Given the description of an element on the screen output the (x, y) to click on. 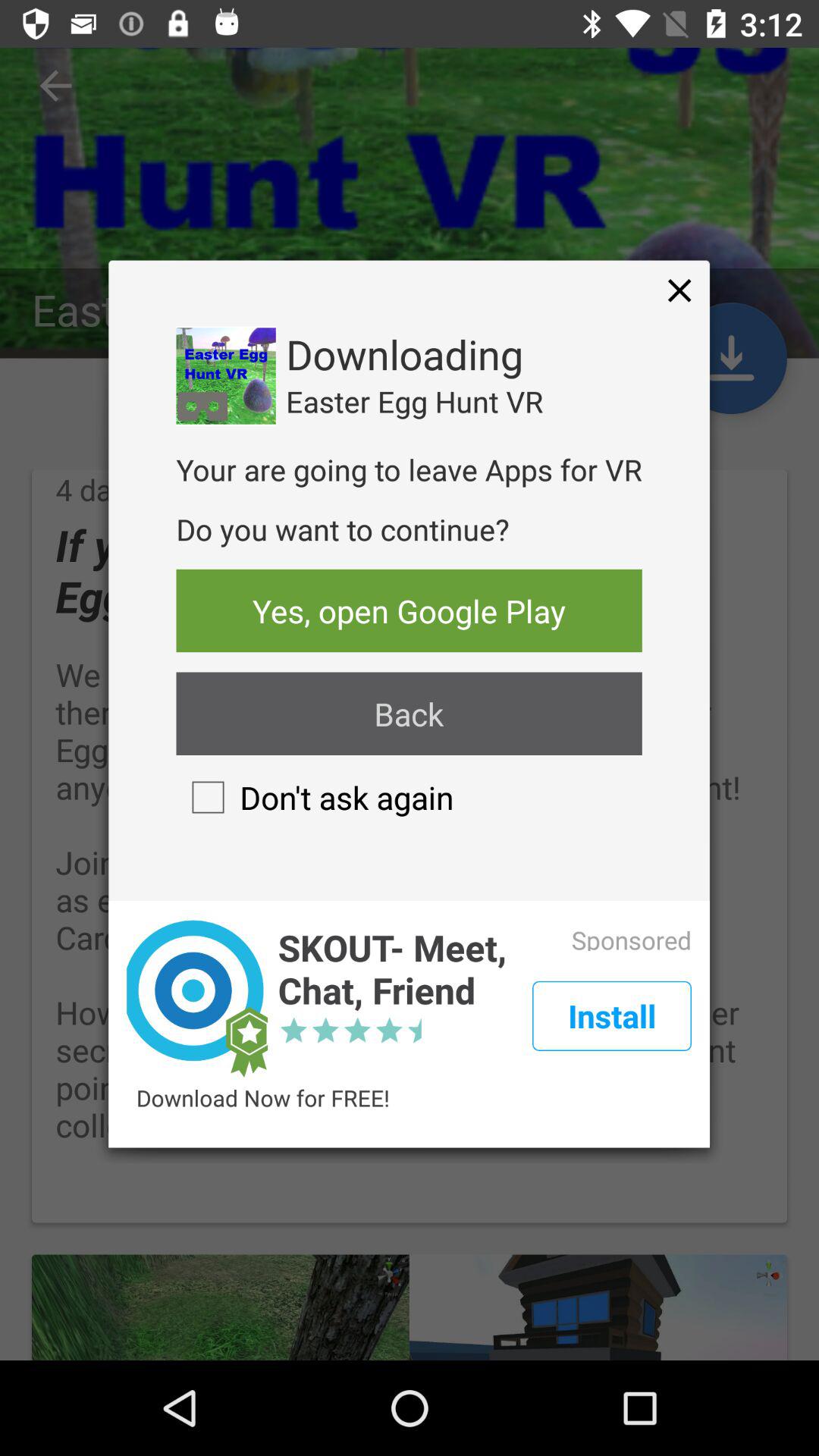
choose the item below the do you want icon (409, 610)
